Given the description of an element on the screen output the (x, y) to click on. 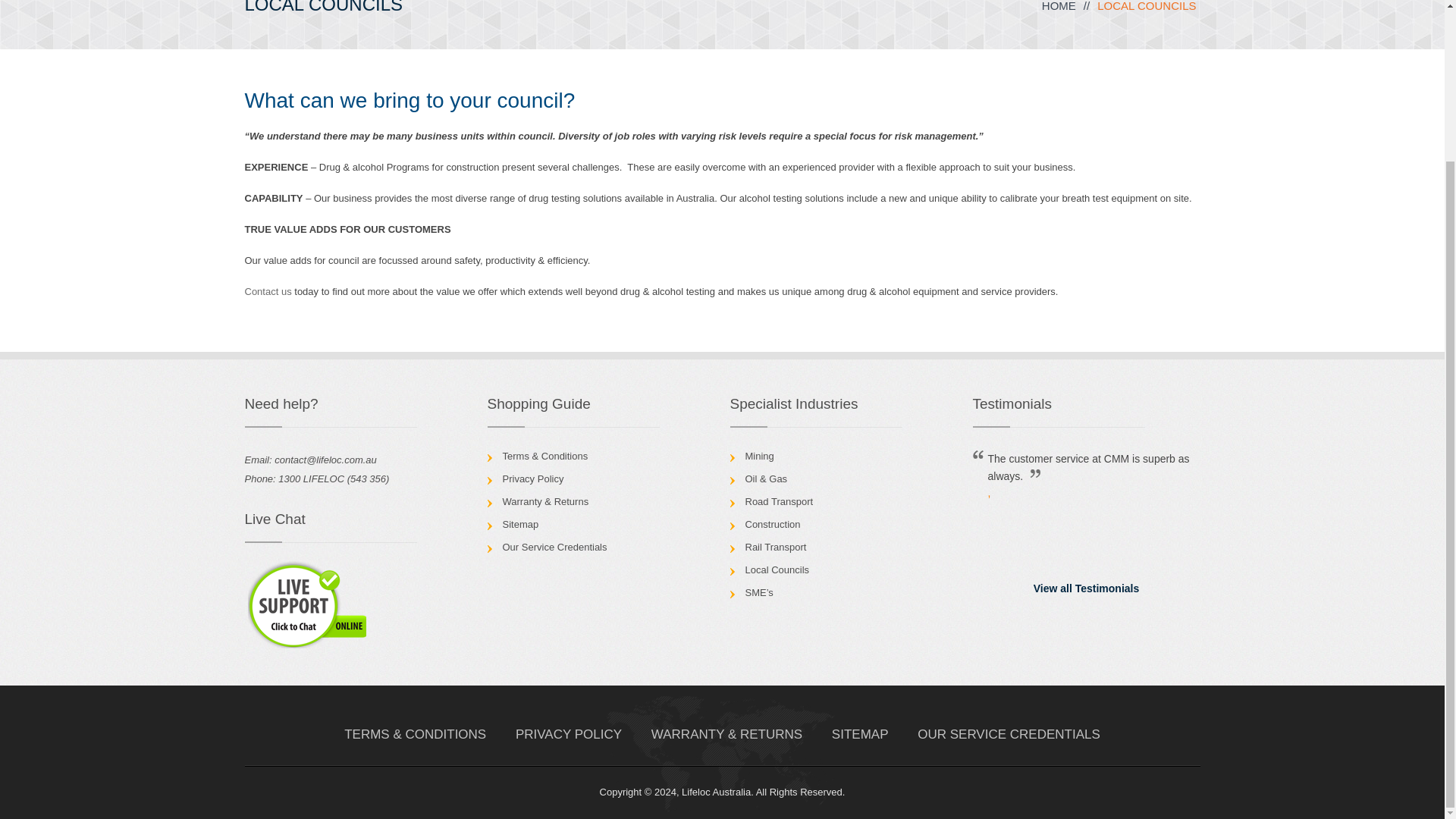
Privacy Policy (532, 478)
HOME (1058, 6)
Our Service Credentials (554, 546)
Rail Transport (775, 546)
Construction (771, 523)
Contact us (269, 291)
PRIVACY POLICY (568, 734)
Local Councils (776, 569)
SITEMAP (859, 734)
Road Transport (778, 501)
View all Testimonials (1085, 588)
Mining (758, 455)
OUR SERVICE CREDENTIALS (1008, 734)
Sitemap (520, 523)
